Given the description of an element on the screen output the (x, y) to click on. 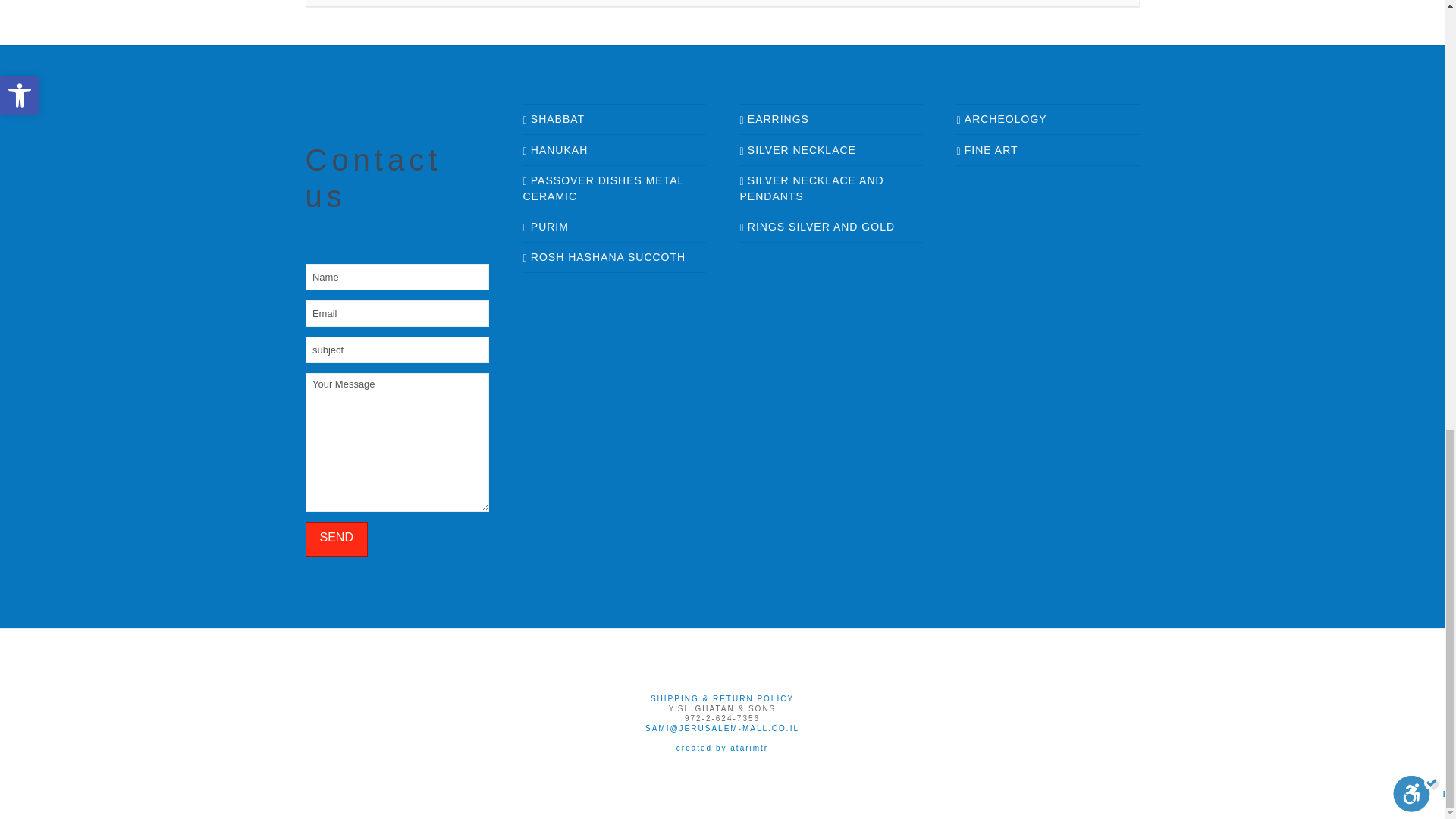
Email (395, 312)
Name (395, 276)
subject (395, 349)
Send (335, 539)
